Given the description of an element on the screen output the (x, y) to click on. 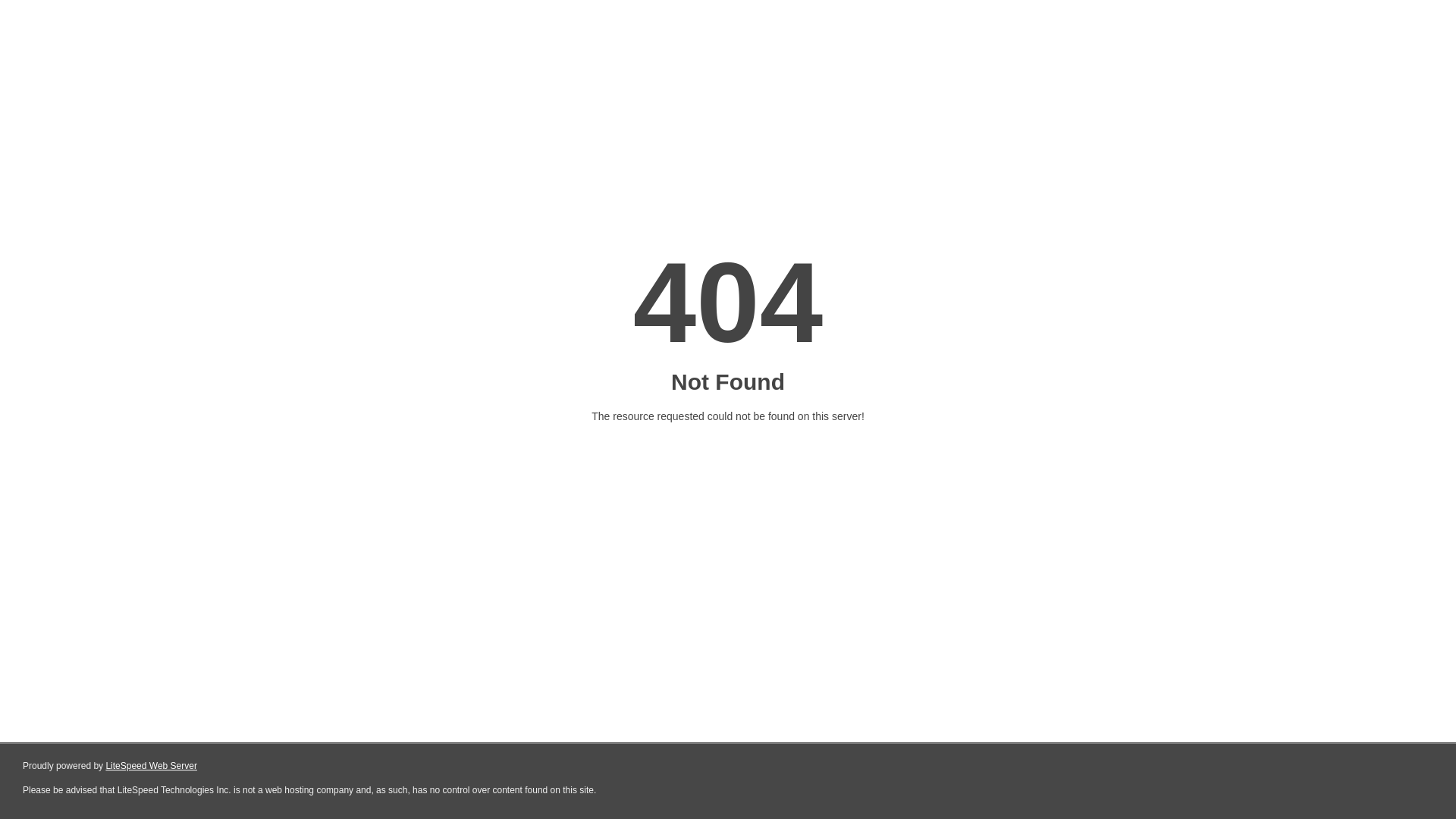
LiteSpeed Web Server Element type: text (151, 765)
